Given the description of an element on the screen output the (x, y) to click on. 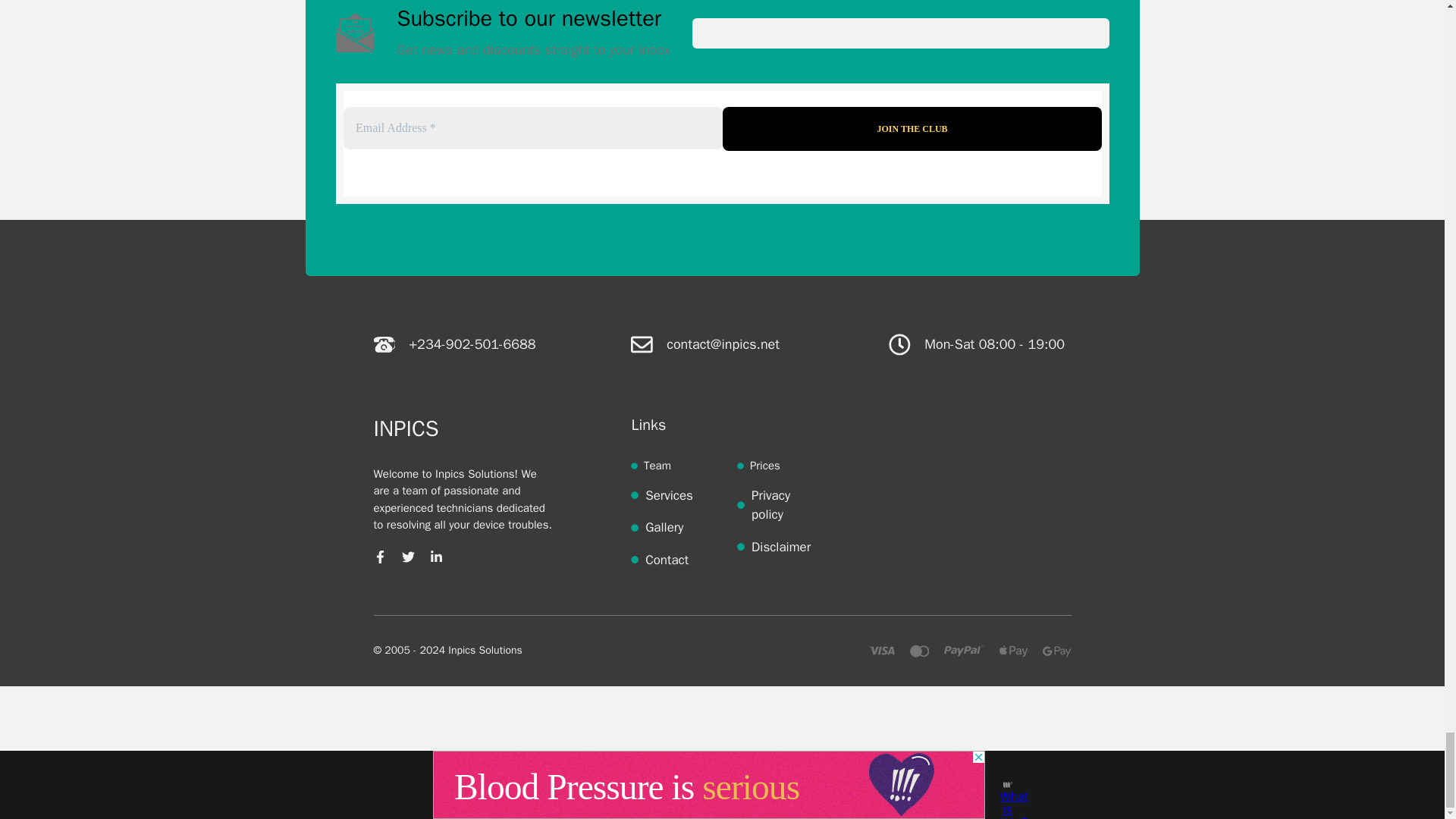
Email Address (532, 128)
JOIN THE CLUB (911, 128)
